Given the description of an element on the screen output the (x, y) to click on. 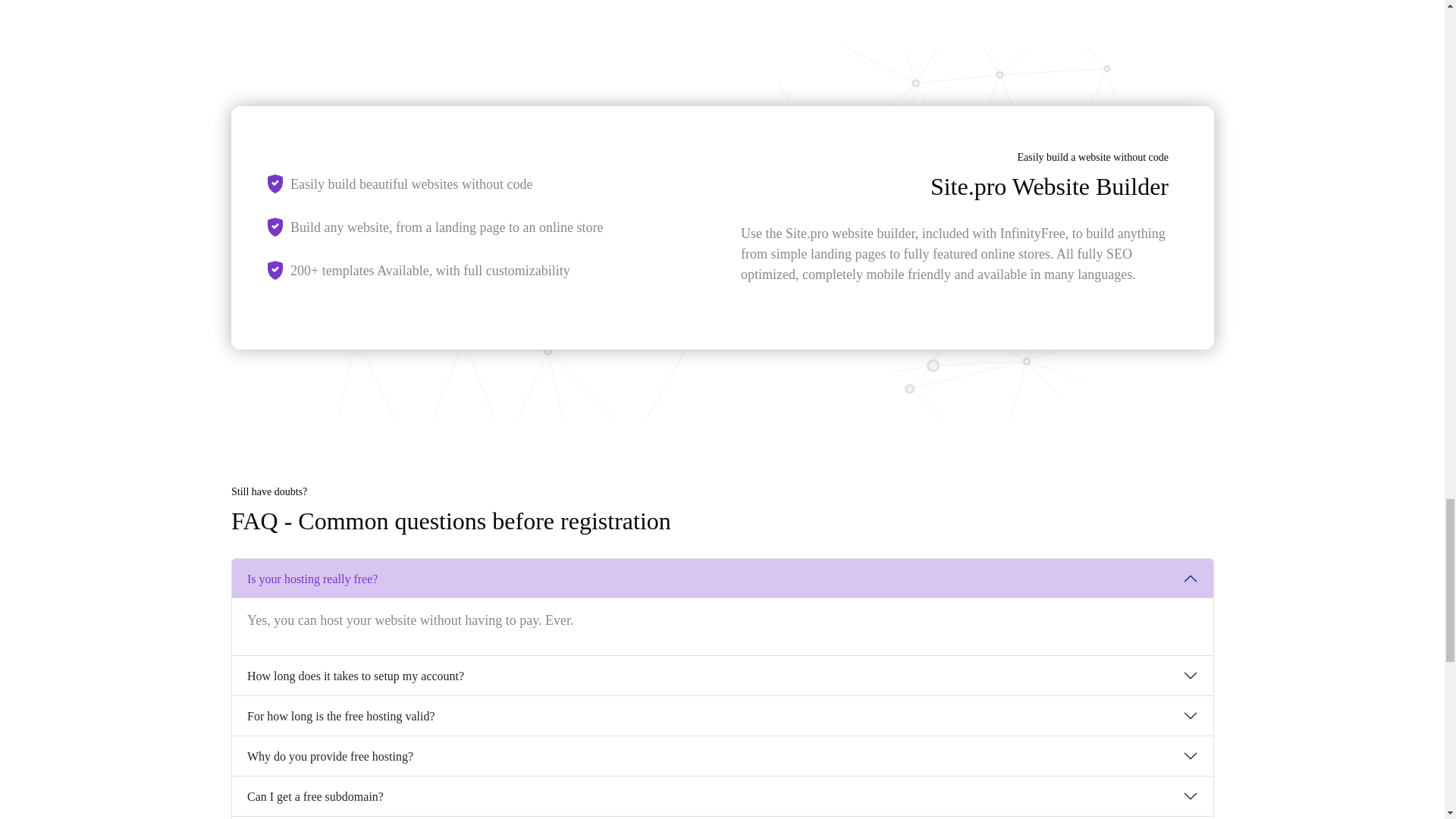
Can I get a free subdomain? (721, 795)
Why do you provide free hosting? (721, 755)
How long does it takes to setup my account? (721, 675)
Is your hosting really free? (721, 578)
For how long is the free hosting valid? (721, 715)
